Given the description of an element on the screen output the (x, y) to click on. 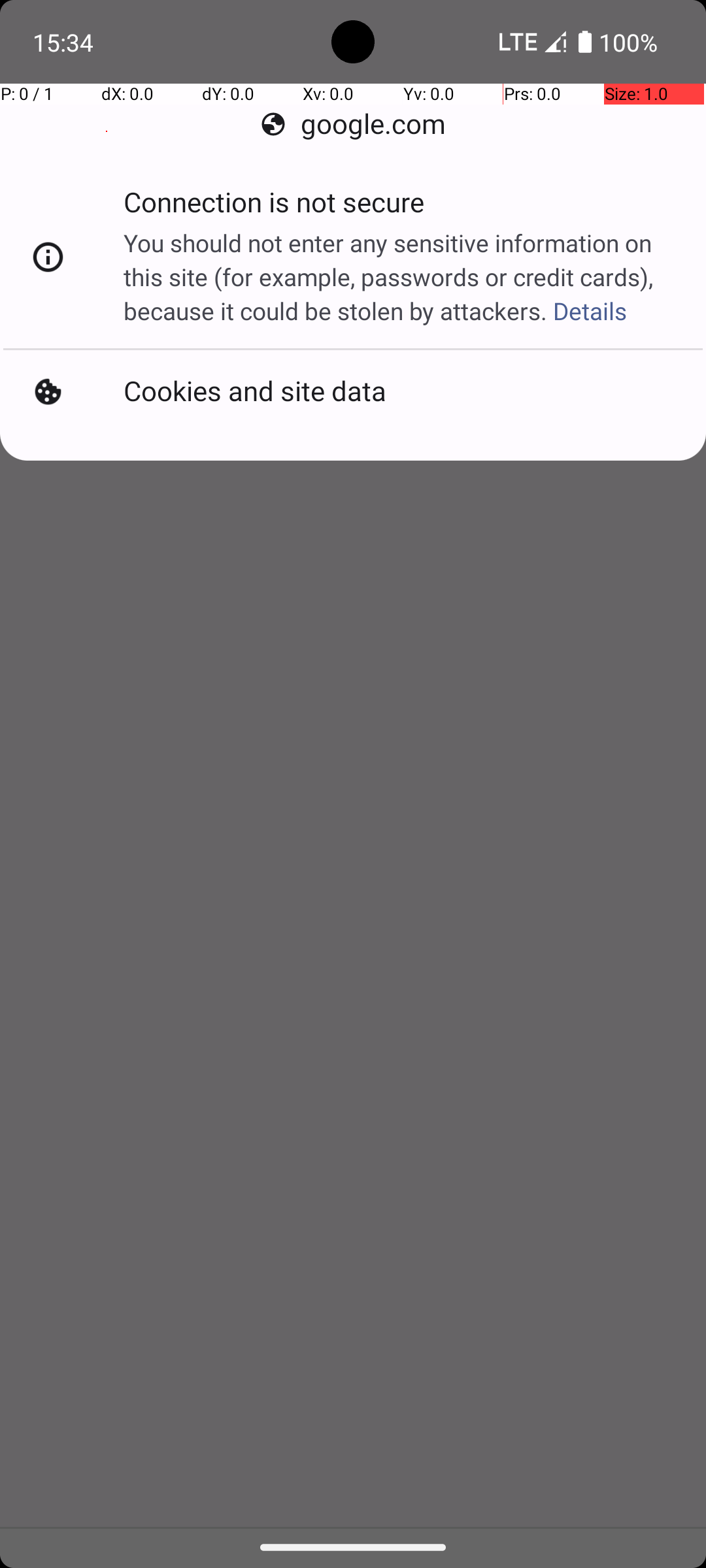
You should not enter any sensitive information on this site (for example, passwords or credit cards), because it could be stolen by attackers. Details Element type: android.widget.TextView (400, 276)
Cookies and site data Element type: android.widget.TextView (254, 391)
